Given the description of an element on the screen output the (x, y) to click on. 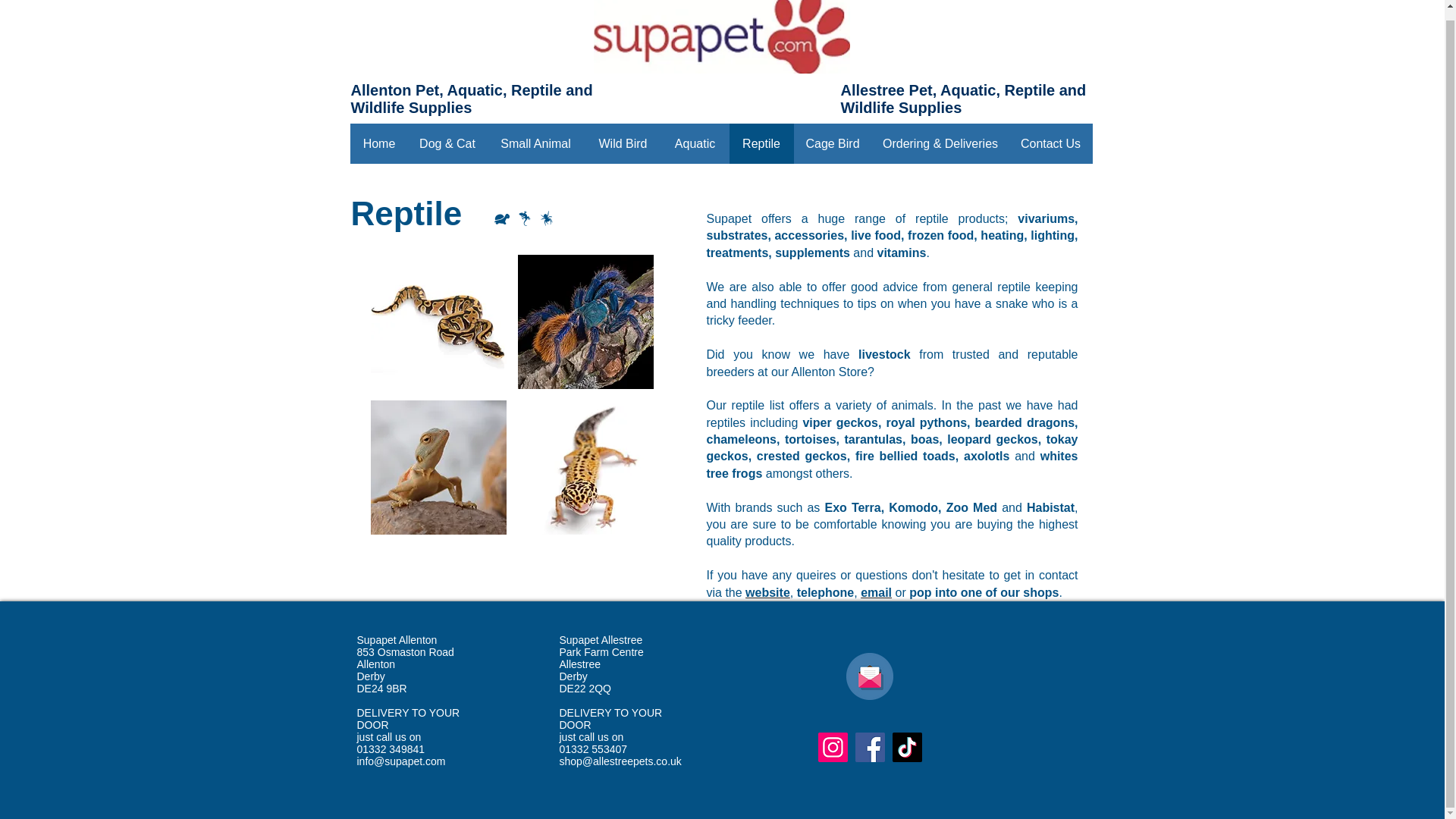
Aquatic (695, 143)
Home (379, 143)
website (767, 592)
Wild Bird (623, 143)
email (875, 592)
Contact Us (1050, 143)
scaled down logo.jpg (720, 36)
Small Animal (535, 143)
Cage Bird (831, 143)
Reptile (761, 143)
